Given the description of an element on the screen output the (x, y) to click on. 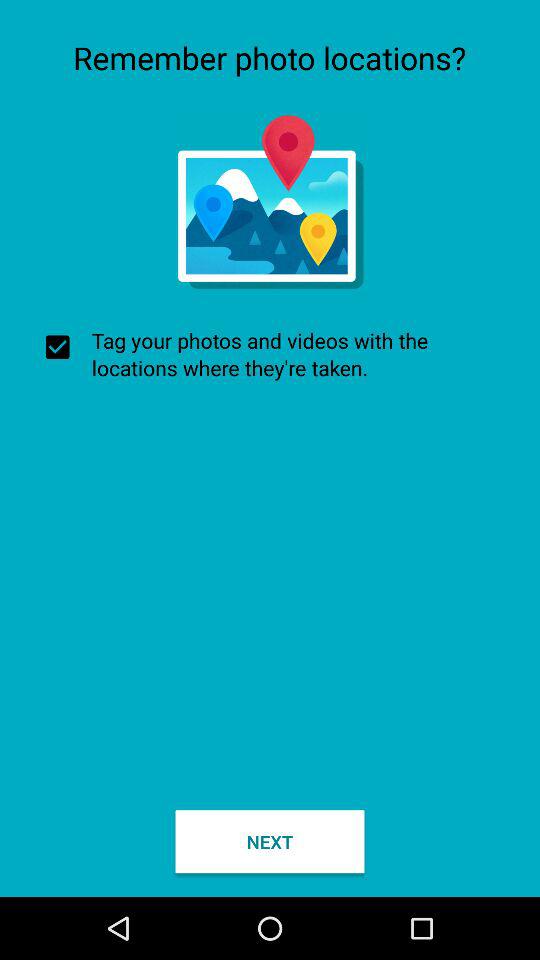
turn off checkbox at the center (269, 354)
